Given the description of an element on the screen output the (x, y) to click on. 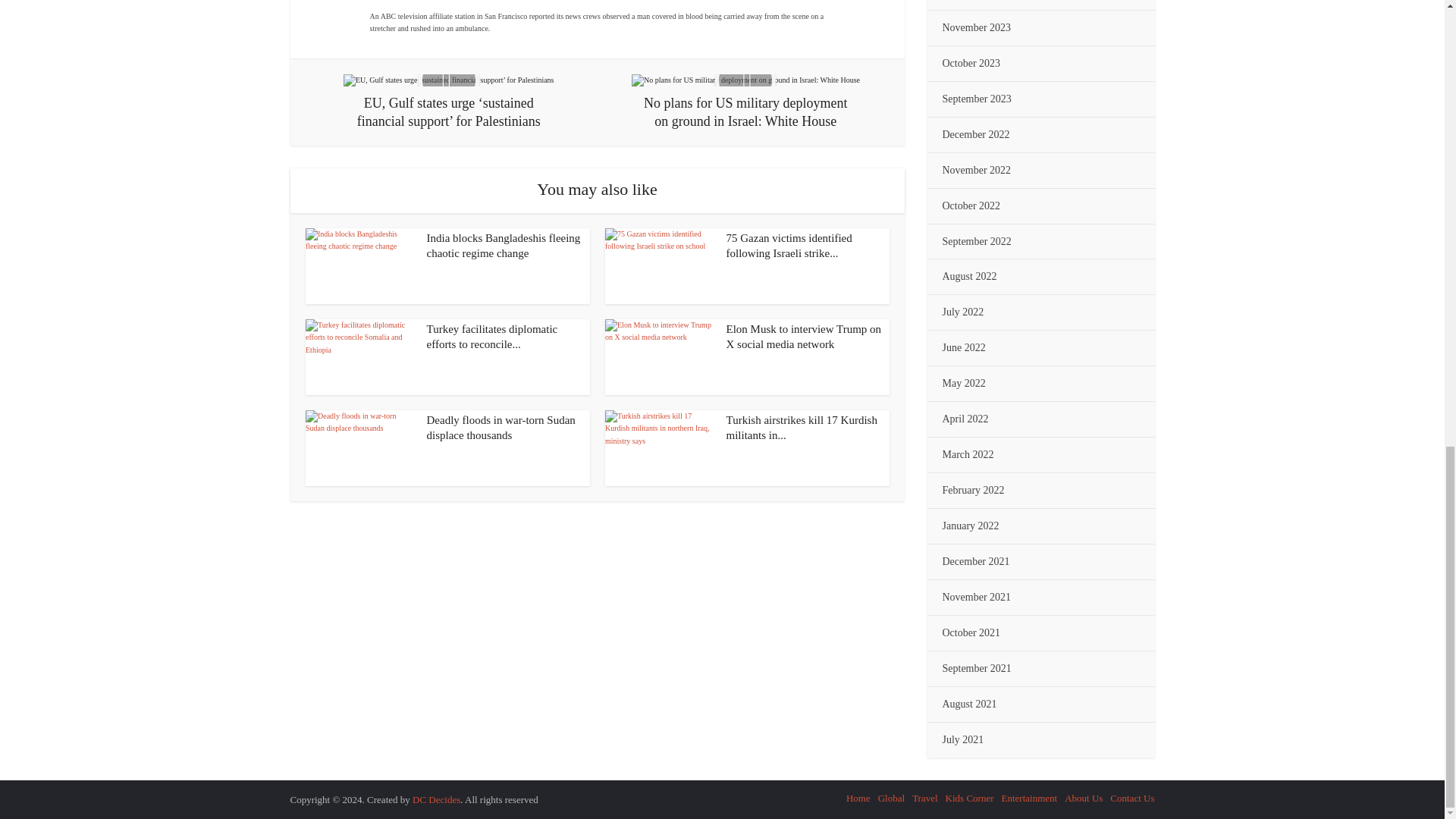
India blocks Bangladeshis fleeing chaotic regime change (359, 265)
India blocks Bangladeshis fleeing chaotic regime change (502, 245)
India blocks Bangladeshis fleeing chaotic regime change (502, 245)
